Given the description of an element on the screen output the (x, y) to click on. 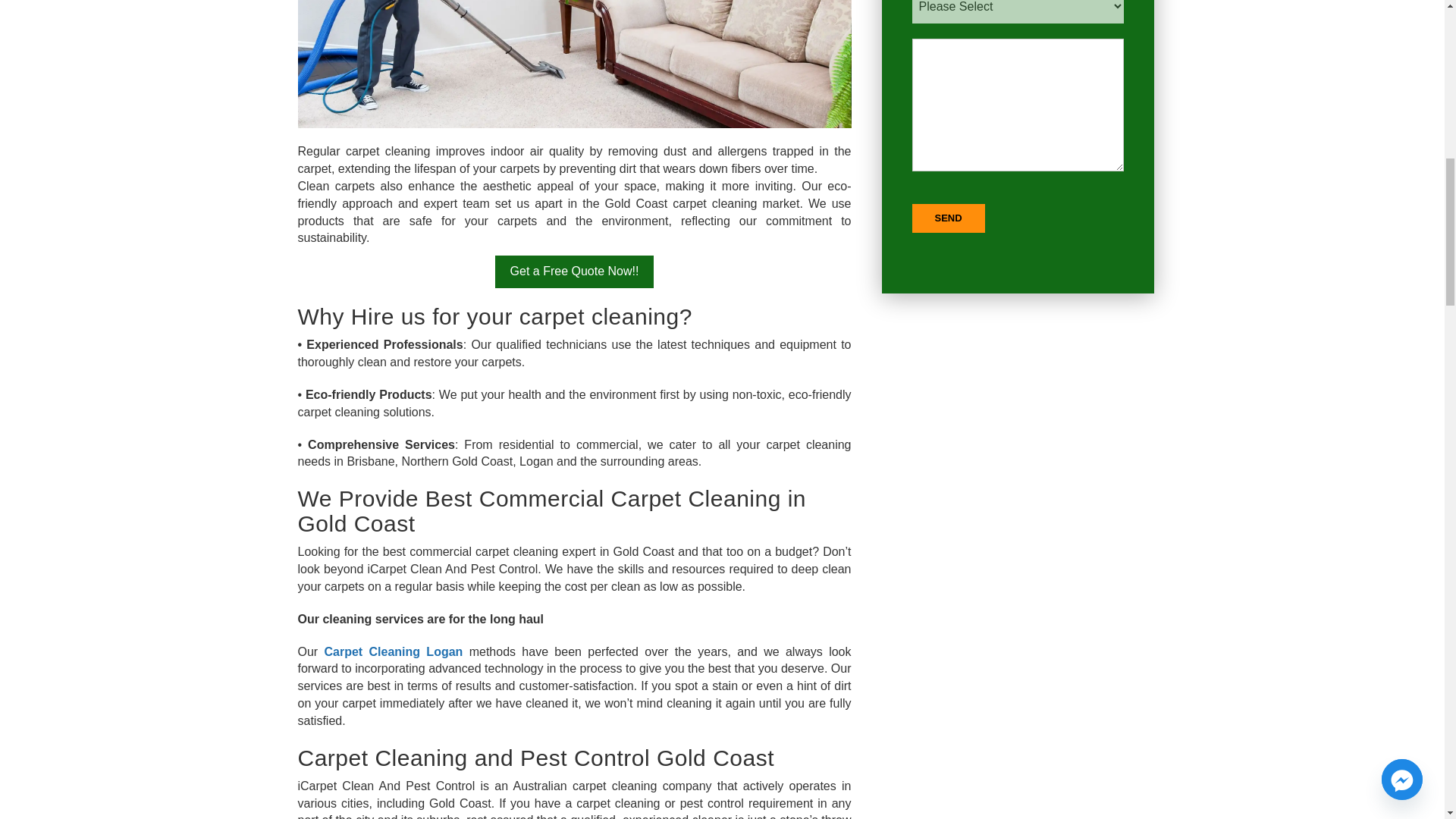
Send (947, 218)
